Given the description of an element on the screen output the (x, y) to click on. 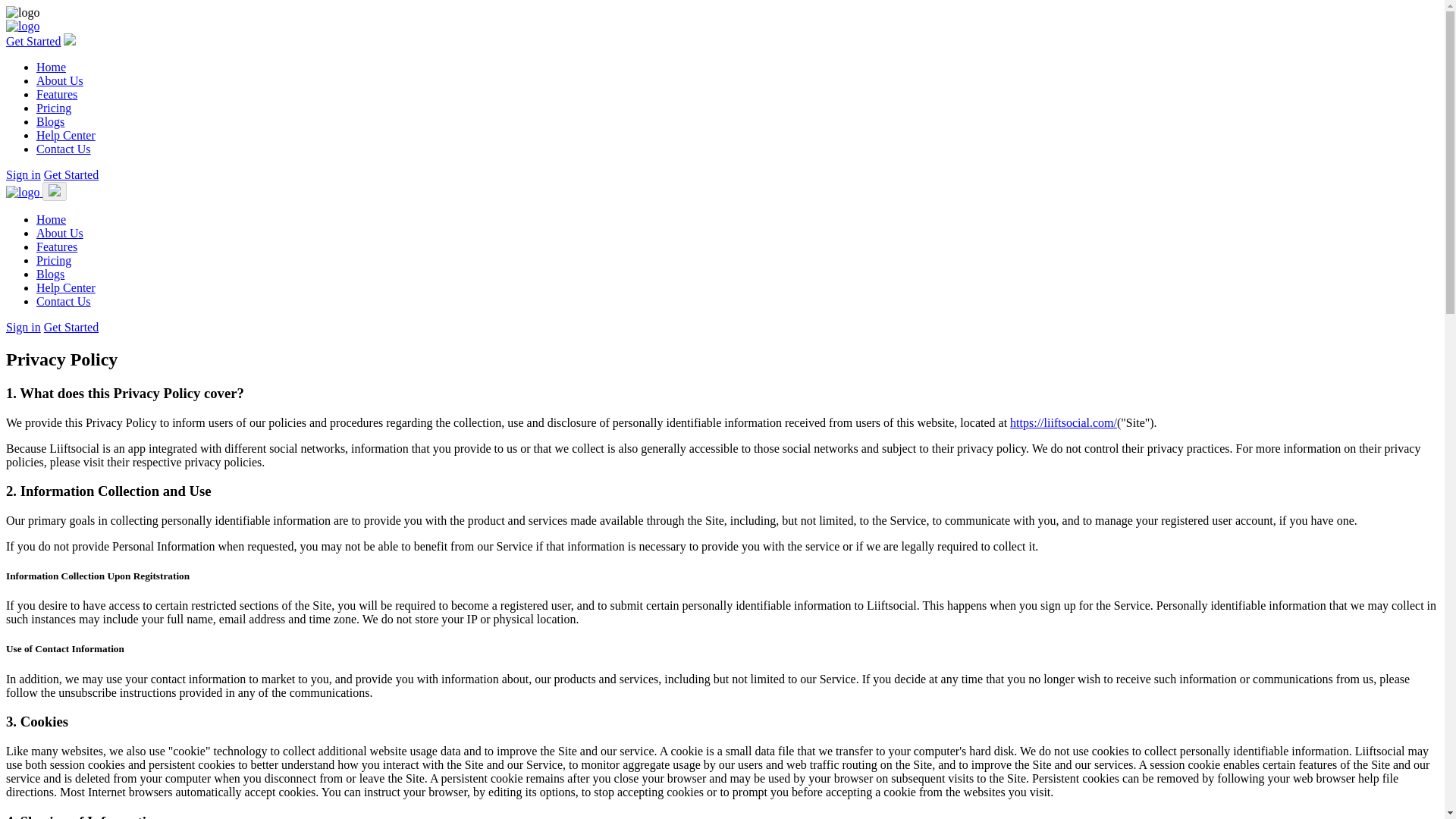
Contact Us (63, 148)
Get Started (33, 41)
Blogs (50, 121)
Home (50, 66)
Home (50, 219)
Help Center (66, 134)
Sign in (22, 327)
Sign in (22, 174)
Pricing (53, 259)
Contact Us (63, 300)
